Given the description of an element on the screen output the (x, y) to click on. 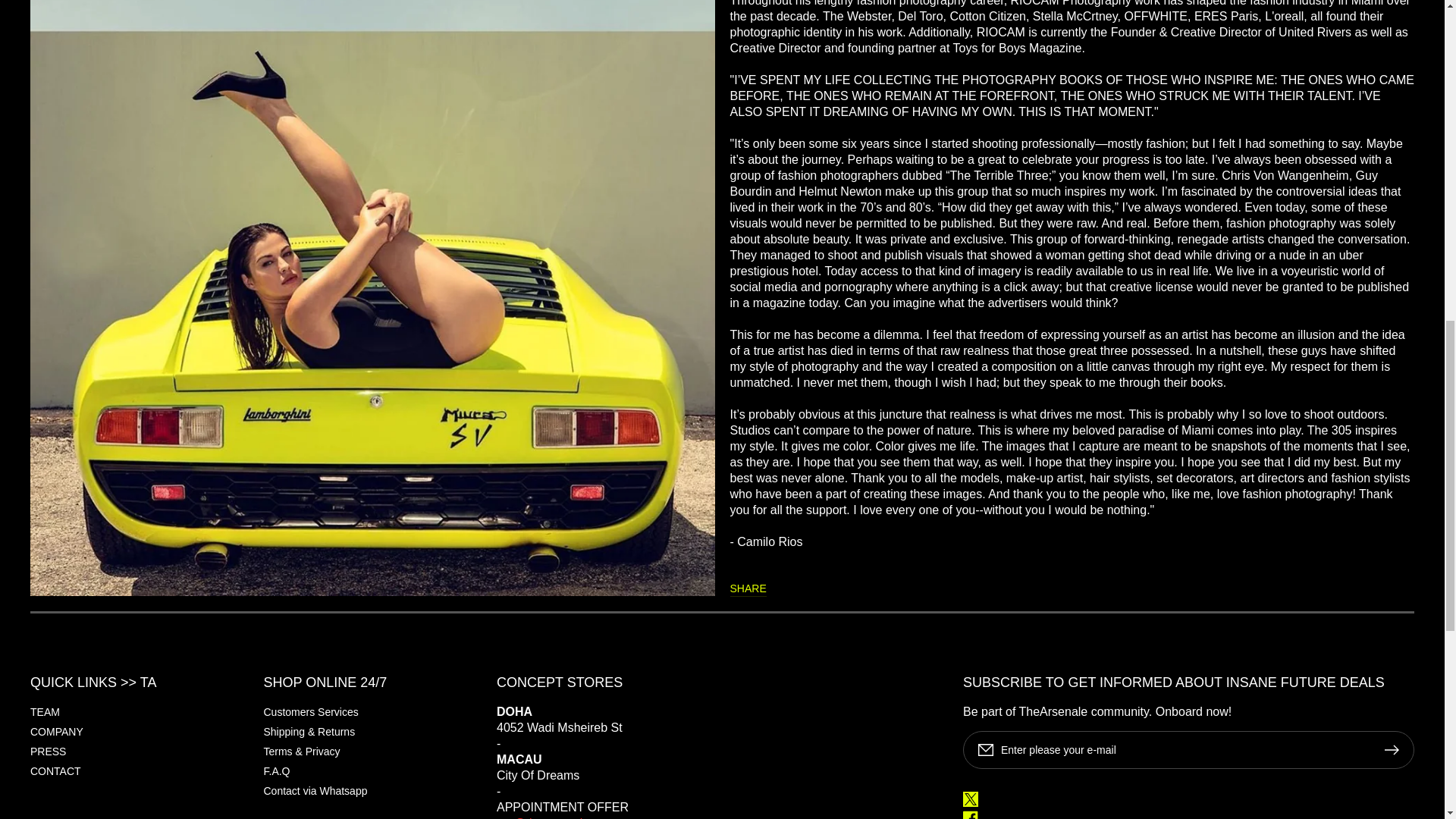
Send your email (555, 817)
